Given the description of an element on the screen output the (x, y) to click on. 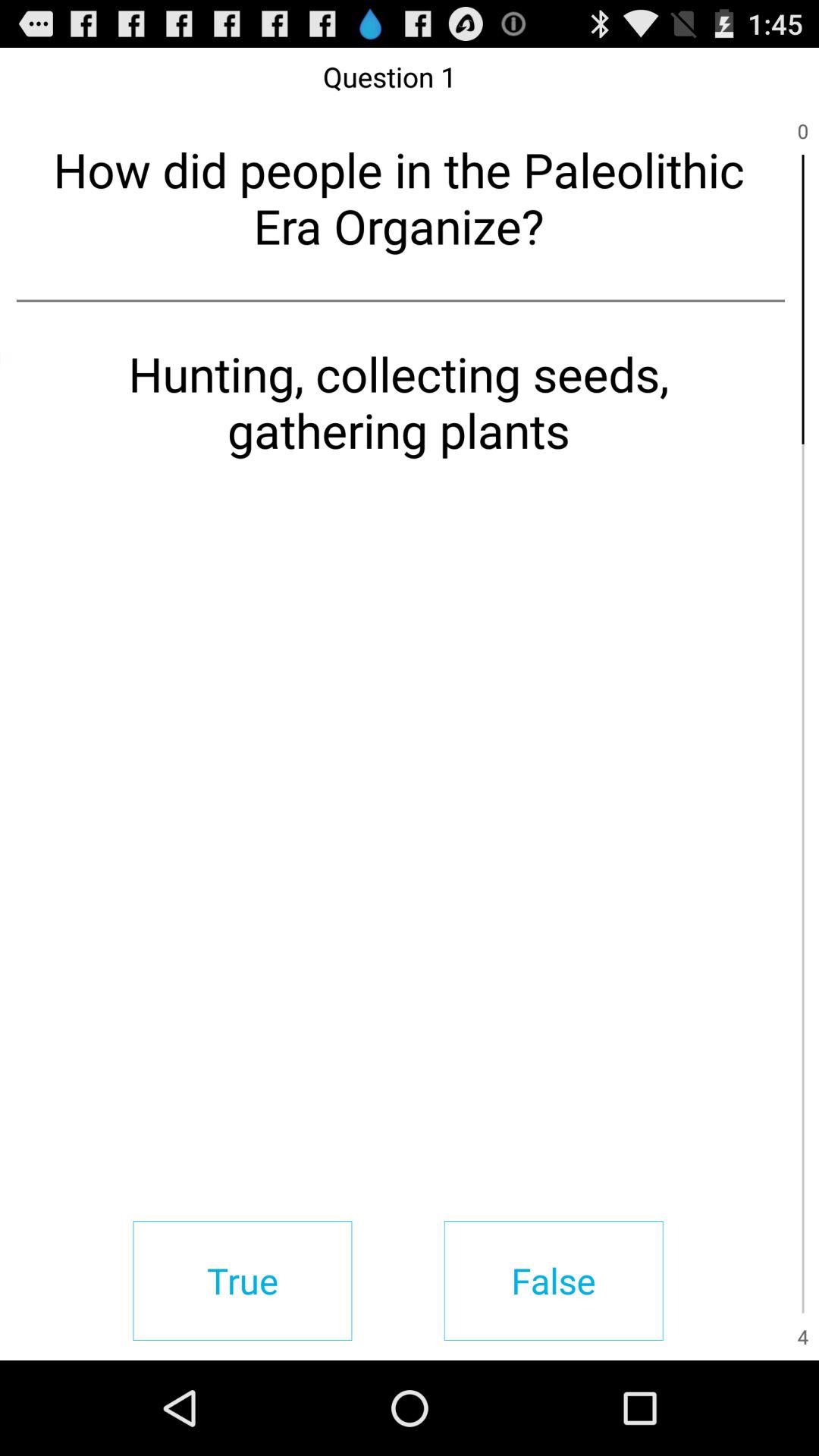
scroll until false icon (553, 1280)
